Given the description of an element on the screen output the (x, y) to click on. 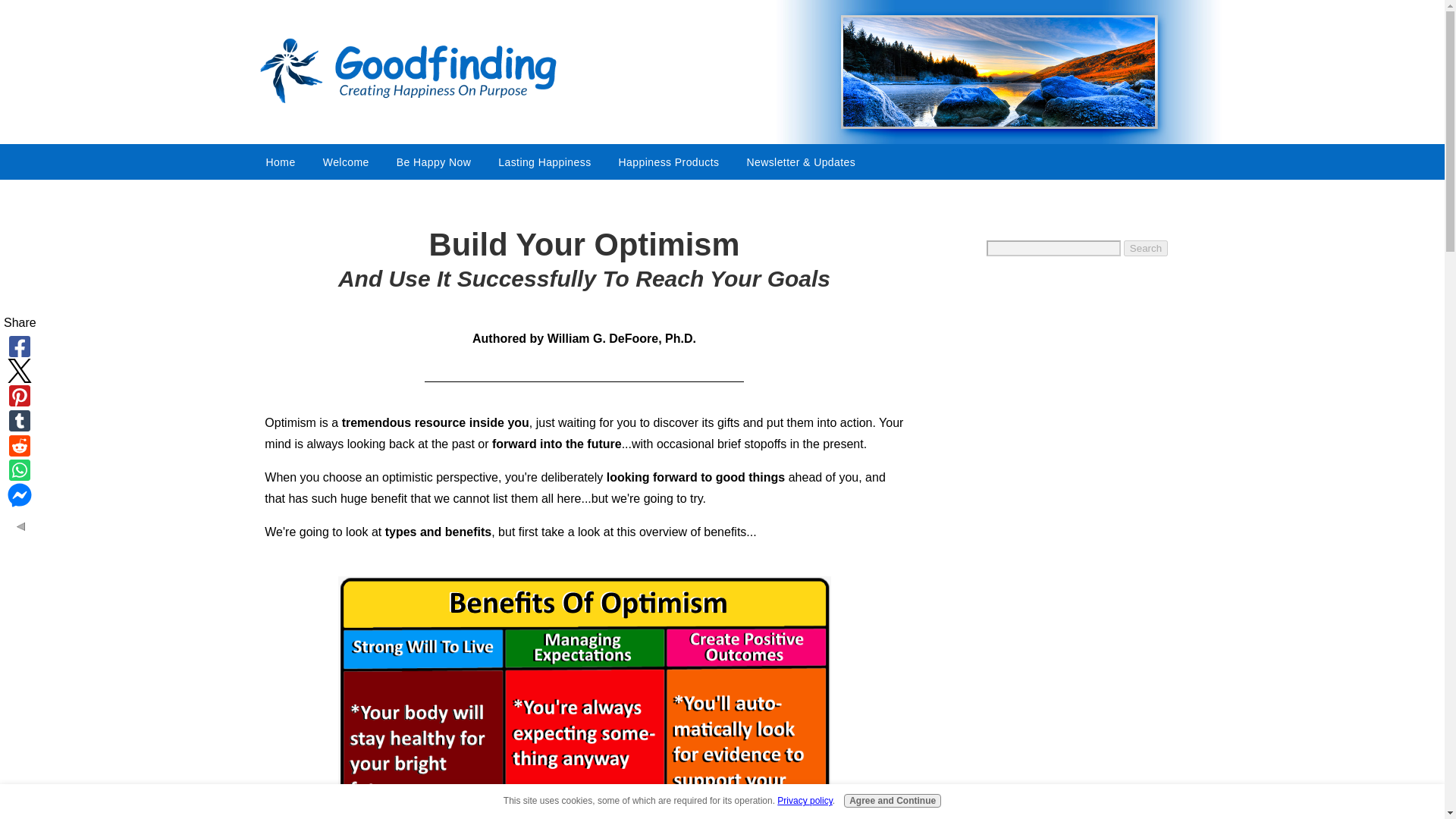
GOODFINDING.COM (441, 71)
Benefits Of Optimism (584, 697)
Search (1145, 248)
Privacy policy (804, 800)
Search (1145, 248)
Home (279, 161)
